Given the description of an element on the screen output the (x, y) to click on. 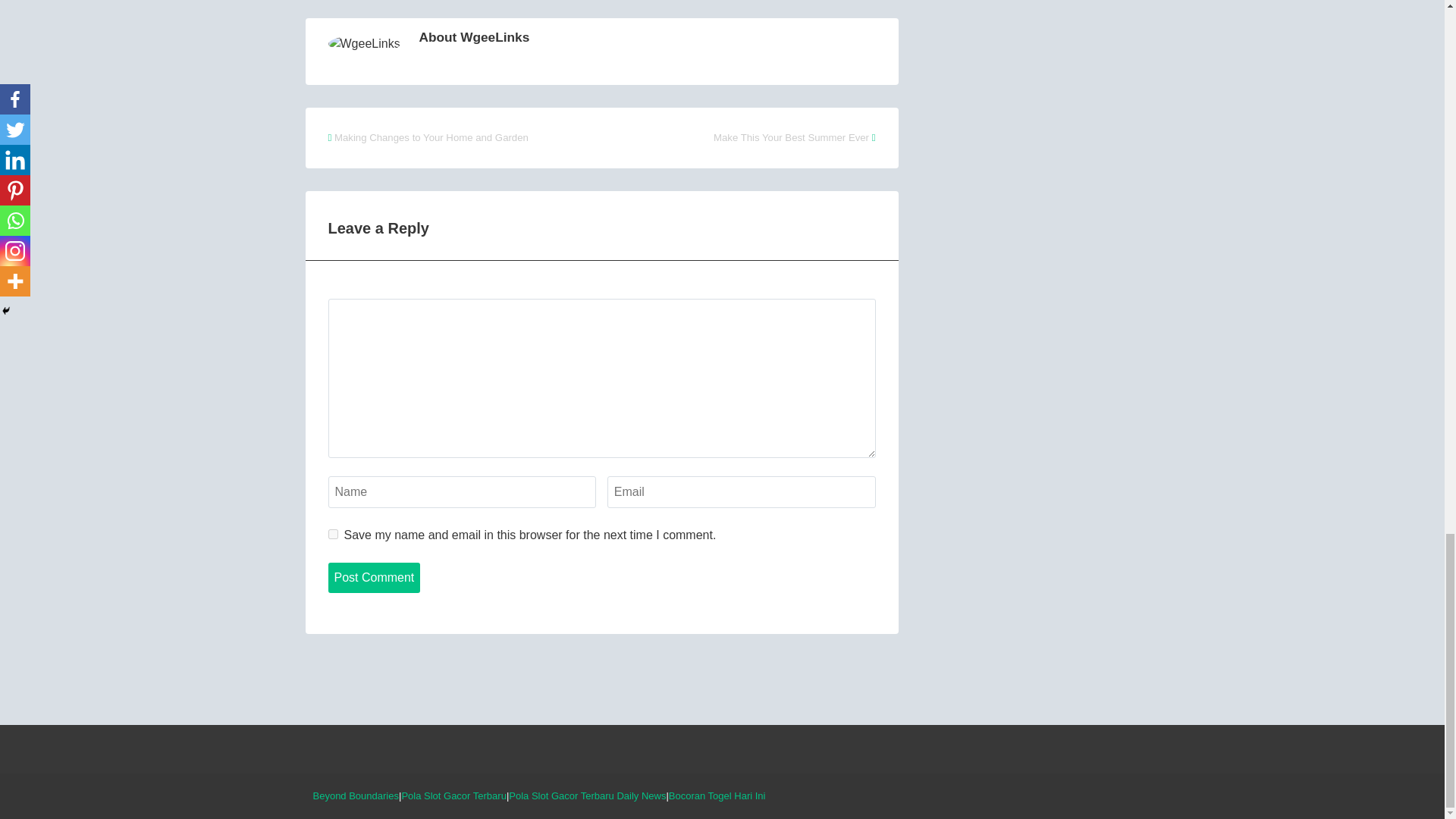
Making Changes to Your Home and Garden (431, 137)
yes (332, 533)
Post Comment (373, 577)
Make This Your Best Summer Ever (791, 137)
Post Comment (373, 577)
